Given the description of an element on the screen output the (x, y) to click on. 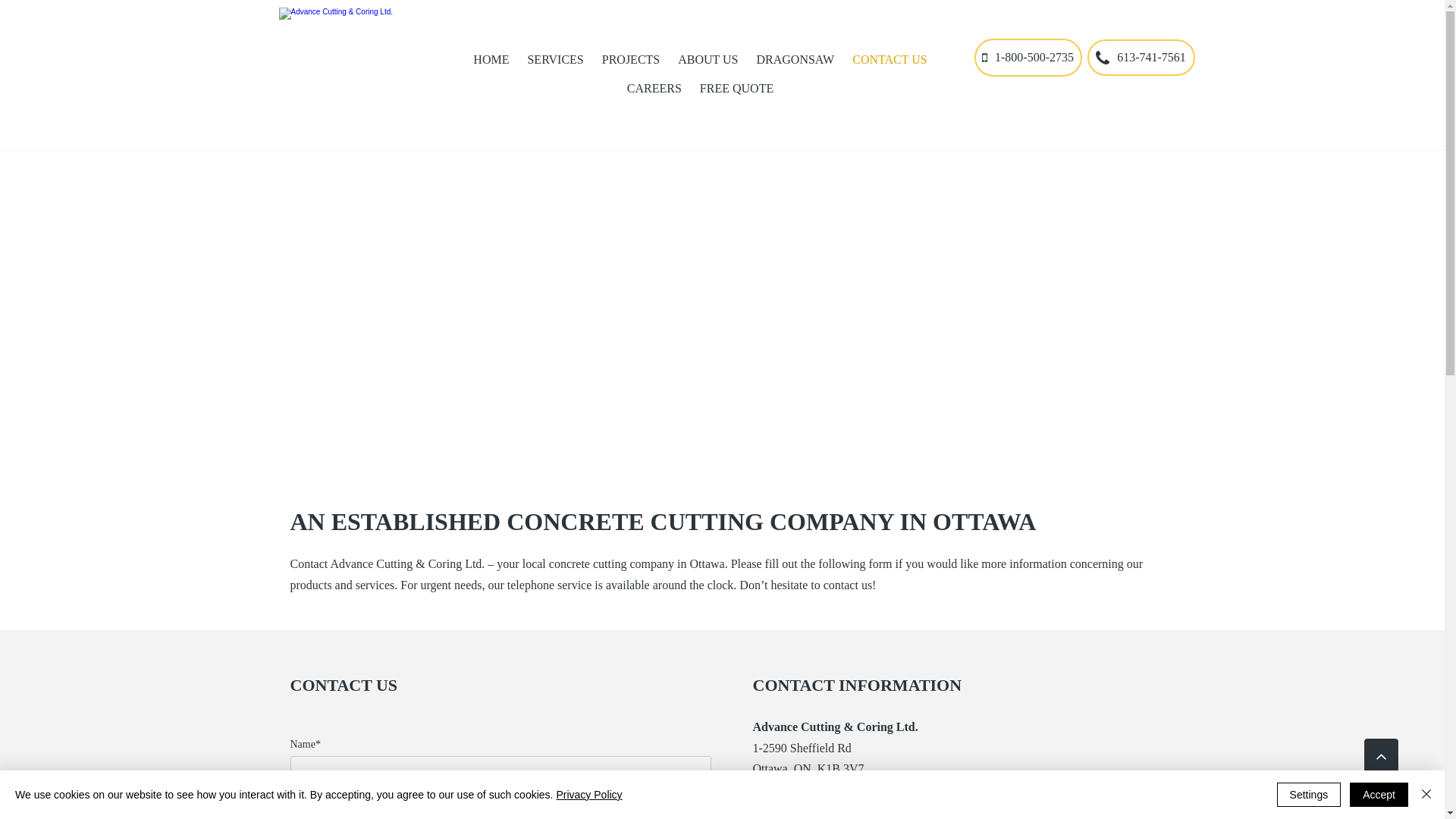
CAREERS Element type: text (654, 88)
HOME Element type: text (490, 59)
DRAGONSAW Element type: text (795, 59)
ABOUT US Element type: text (707, 59)
Google Maps Element type: hover (722, 309)
1-800-500-2735 Element type: text (842, 781)
613-741-7561 Element type: text (825, 760)
CONTACT US Element type: text (889, 59)
1-800-500-2735 Element type: text (1027, 57)
Settings Element type: text (1309, 794)
Accept Element type: text (1378, 794)
613-741-7561 Element type: text (1141, 57)
PROJECTS Element type: text (630, 59)
FREE QUOTE Element type: text (736, 88)
Privacy Policy Element type: text (588, 794)
